Given the description of an element on the screen output the (x, y) to click on. 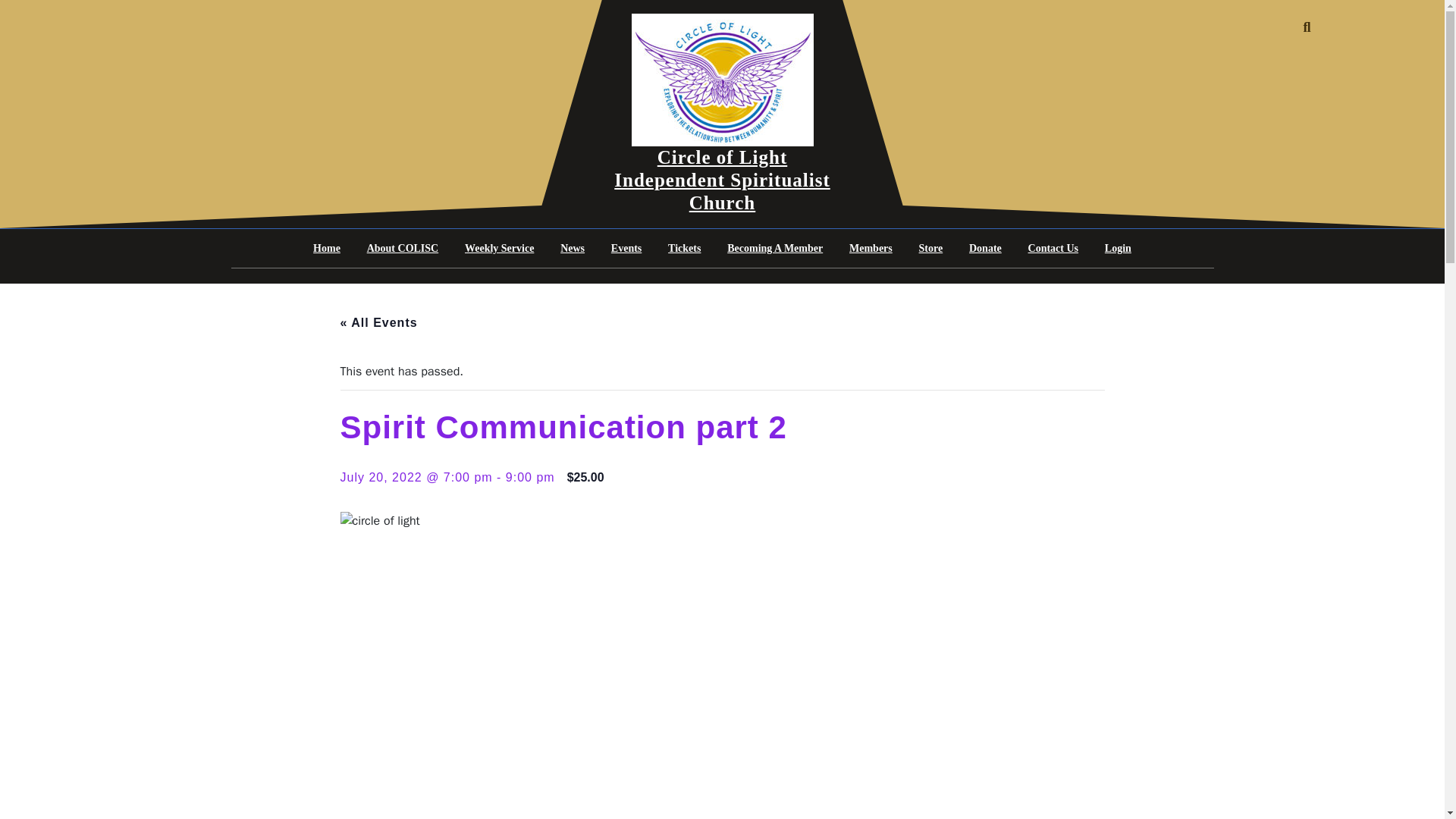
Weekly Service (498, 248)
Tickets (683, 248)
Members (871, 248)
About COLISC (402, 248)
Login (1117, 248)
Home (326, 248)
Store (931, 248)
Donate (985, 248)
Becoming A Member (775, 248)
Contact Us (1053, 248)
Events (625, 248)
Circle of Light Independent Spiritualist Church (721, 179)
News (571, 248)
